Given the description of an element on the screen output the (x, y) to click on. 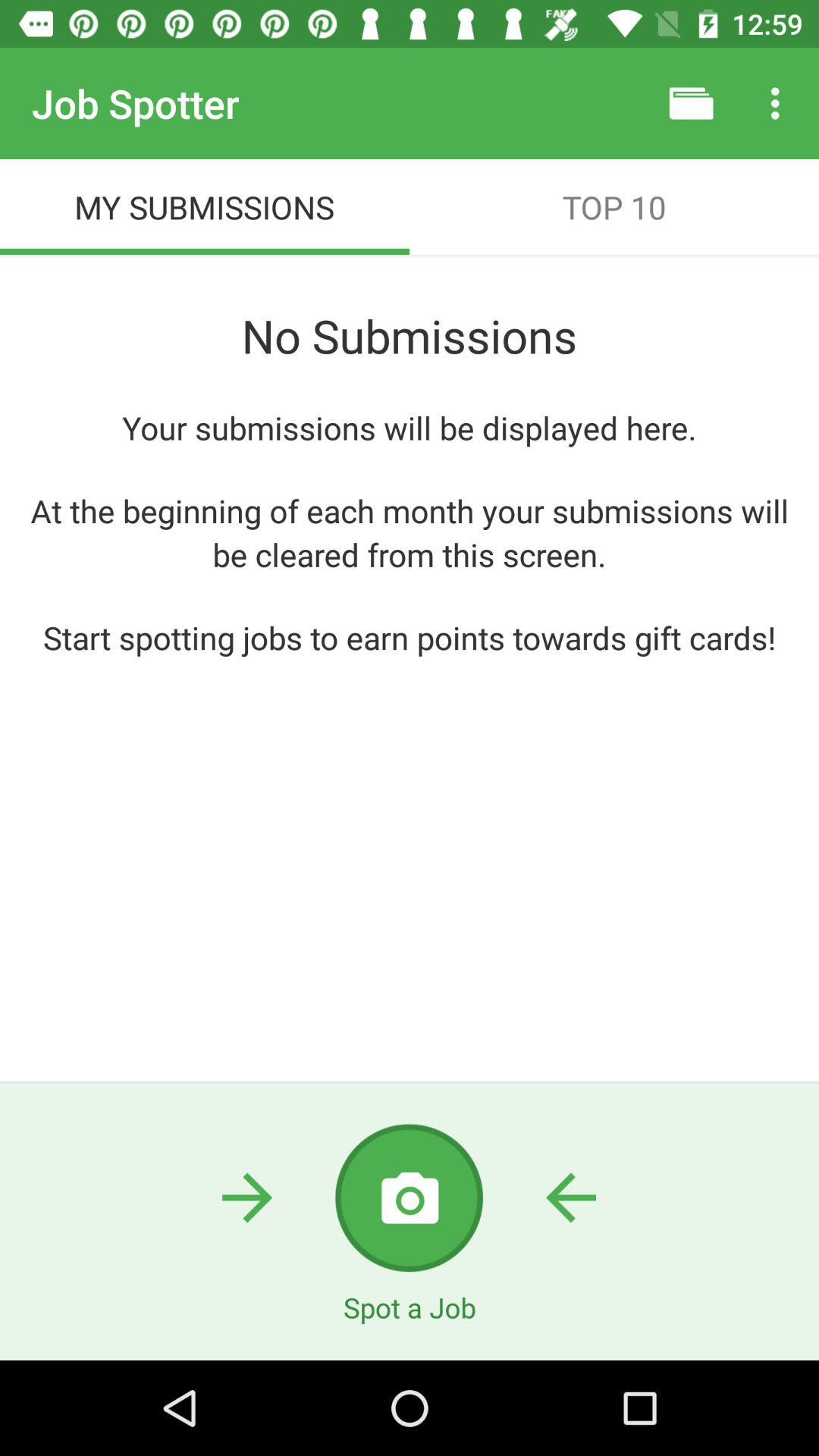
spot a job (409, 1197)
